Given the description of an element on the screen output the (x, y) to click on. 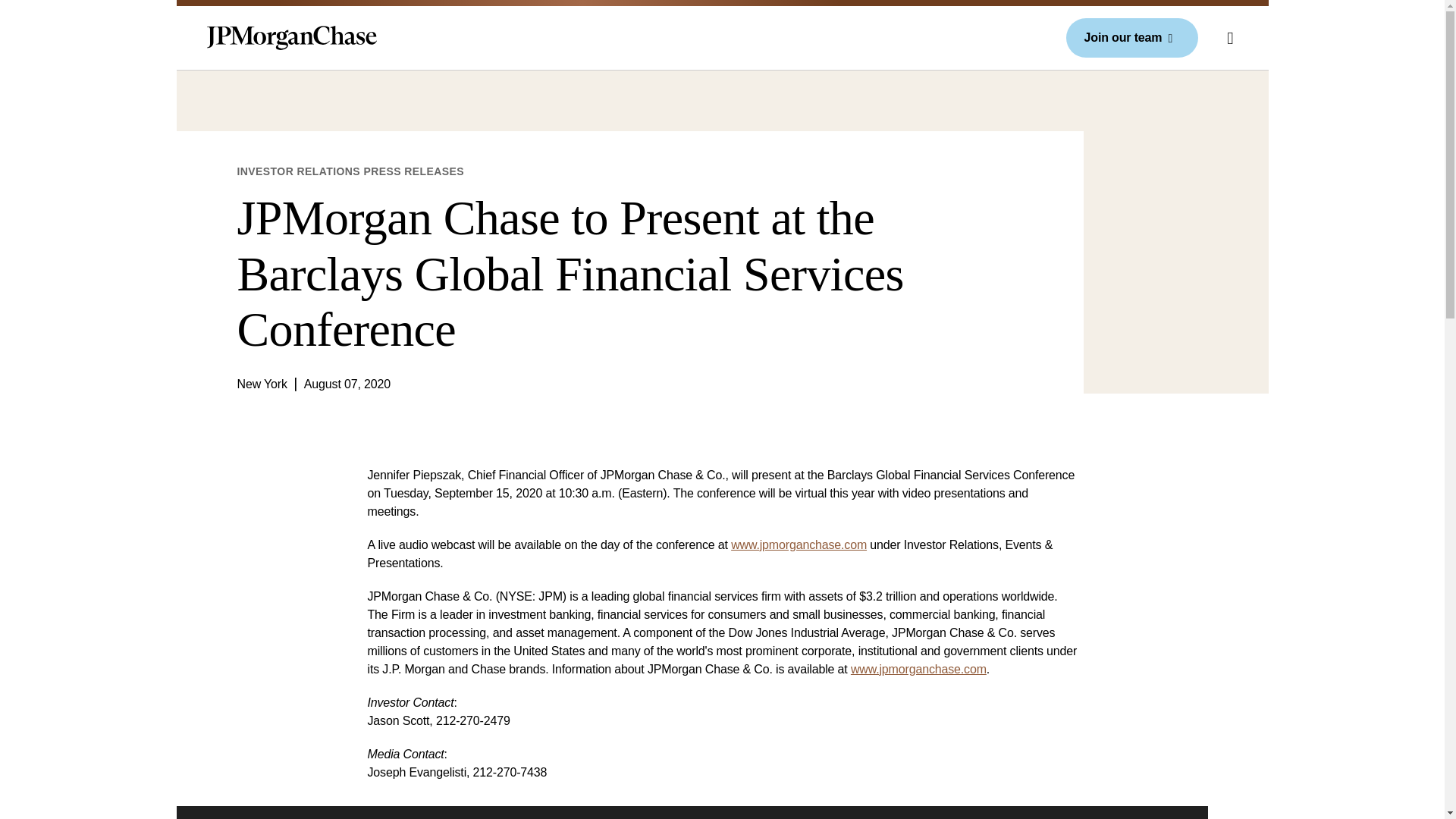
email to : jpmorganchase (798, 544)
email to : jpmorganchase (918, 668)
